Given the description of an element on the screen output the (x, y) to click on. 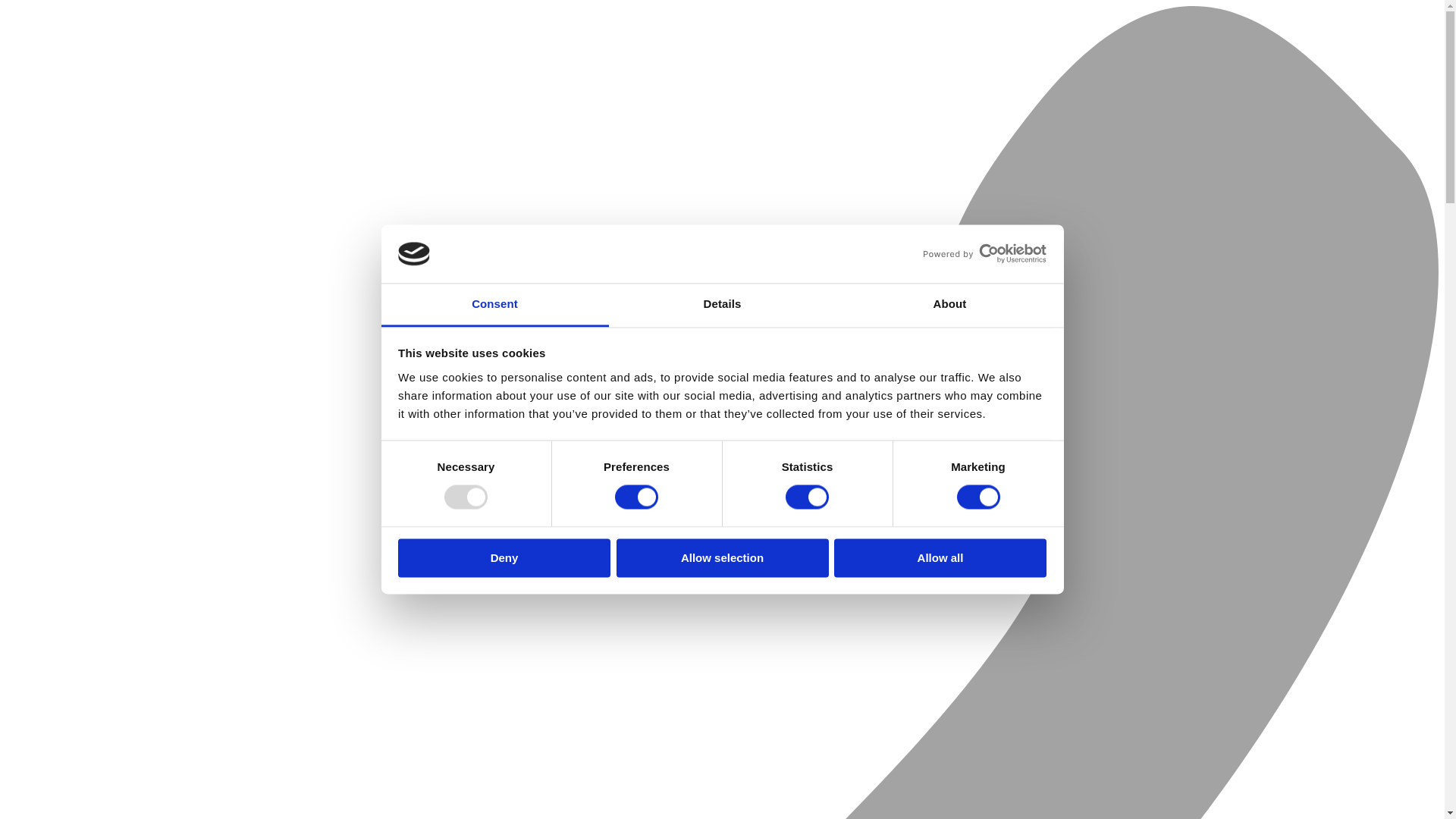
Deny (503, 557)
Details (721, 304)
Consent (494, 304)
Allow selection (721, 557)
Allow all (940, 557)
About (948, 304)
